Given the description of an element on the screen output the (x, y) to click on. 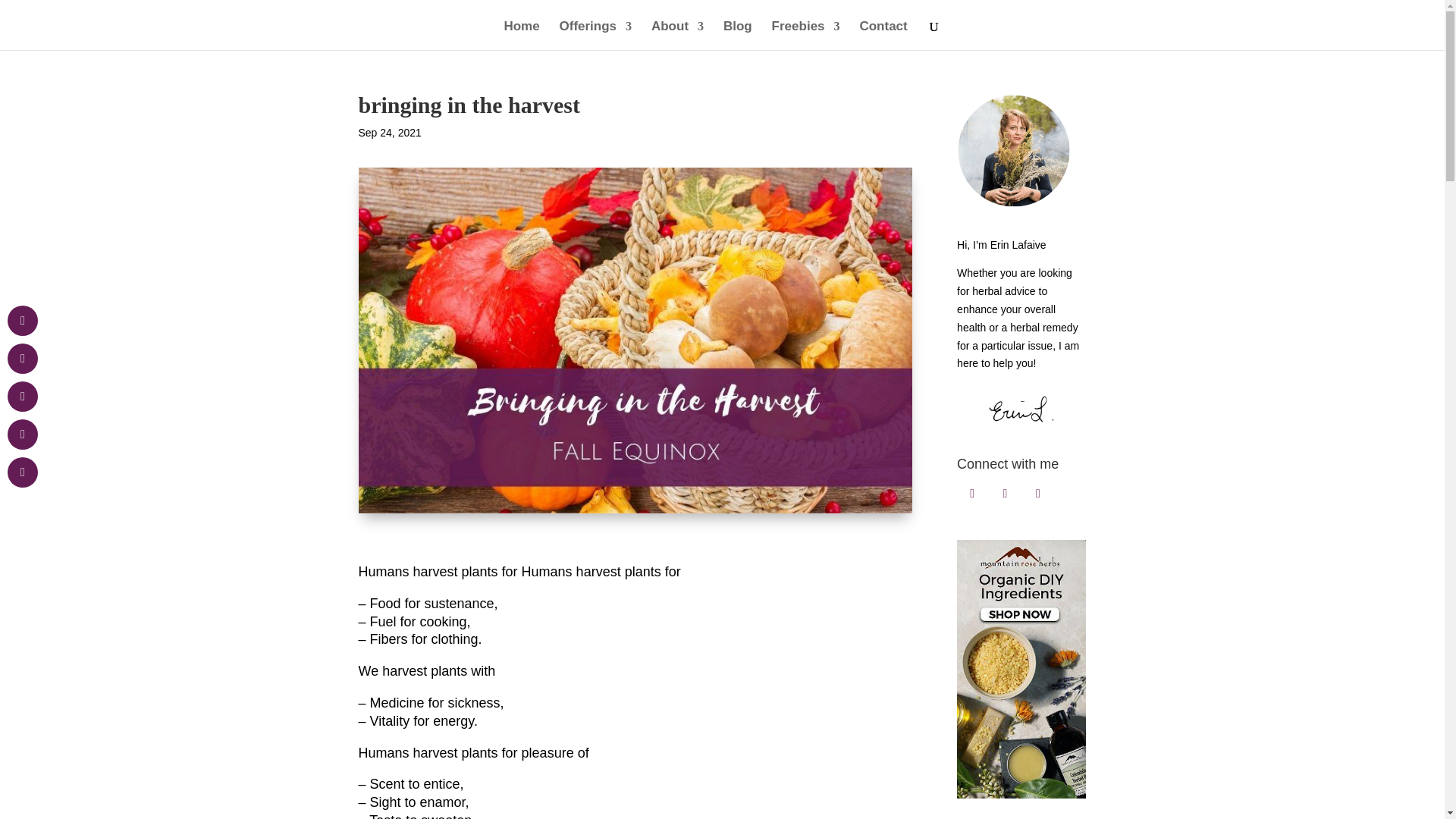
Home (520, 35)
Freebies (805, 35)
Offerings (595, 35)
About (676, 35)
Blog (737, 35)
Contact (883, 35)
